Given the description of an element on the screen output the (x, y) to click on. 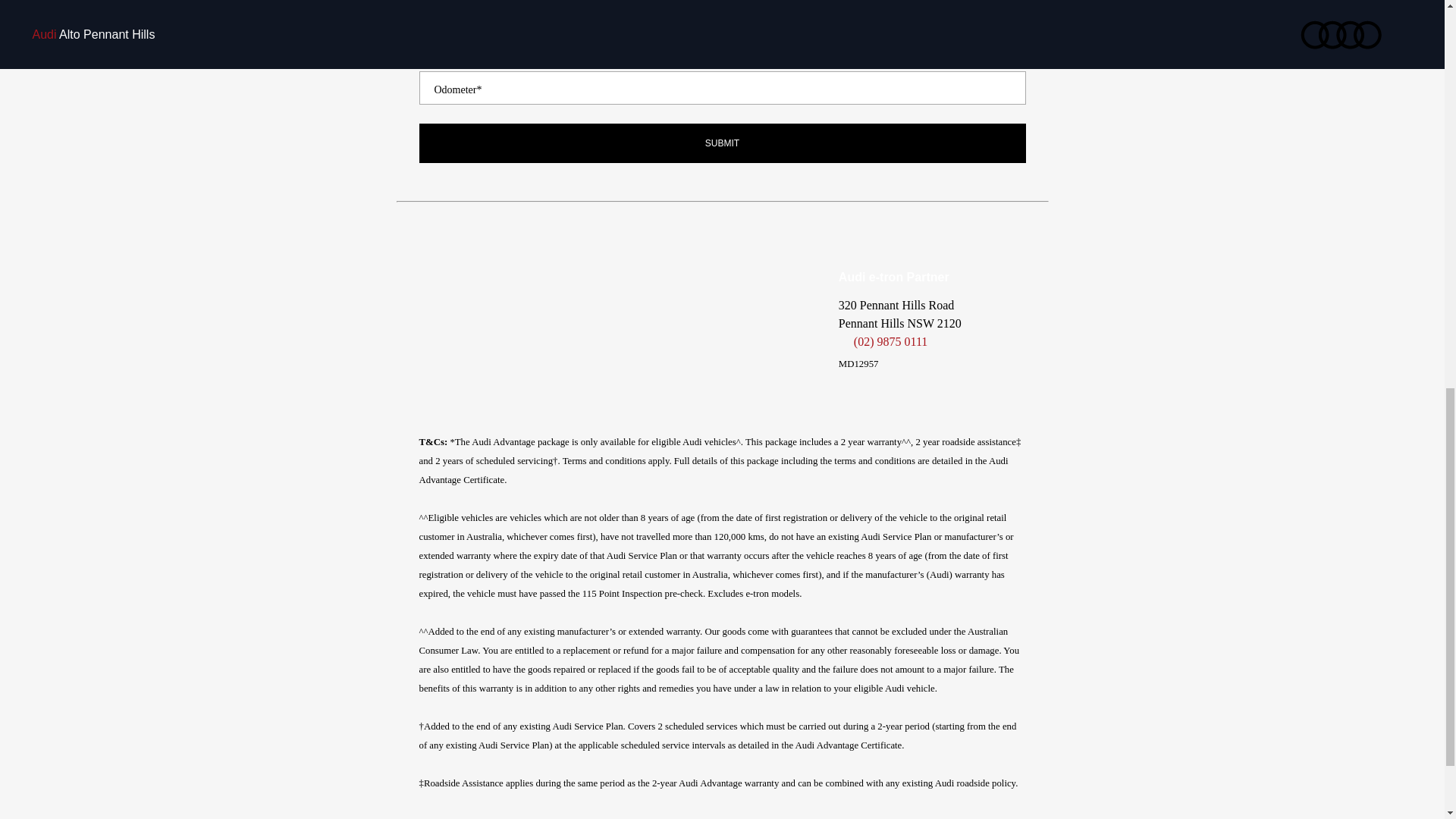
Submit (722, 142)
Submit (722, 142)
